Given the description of an element on the screen output the (x, y) to click on. 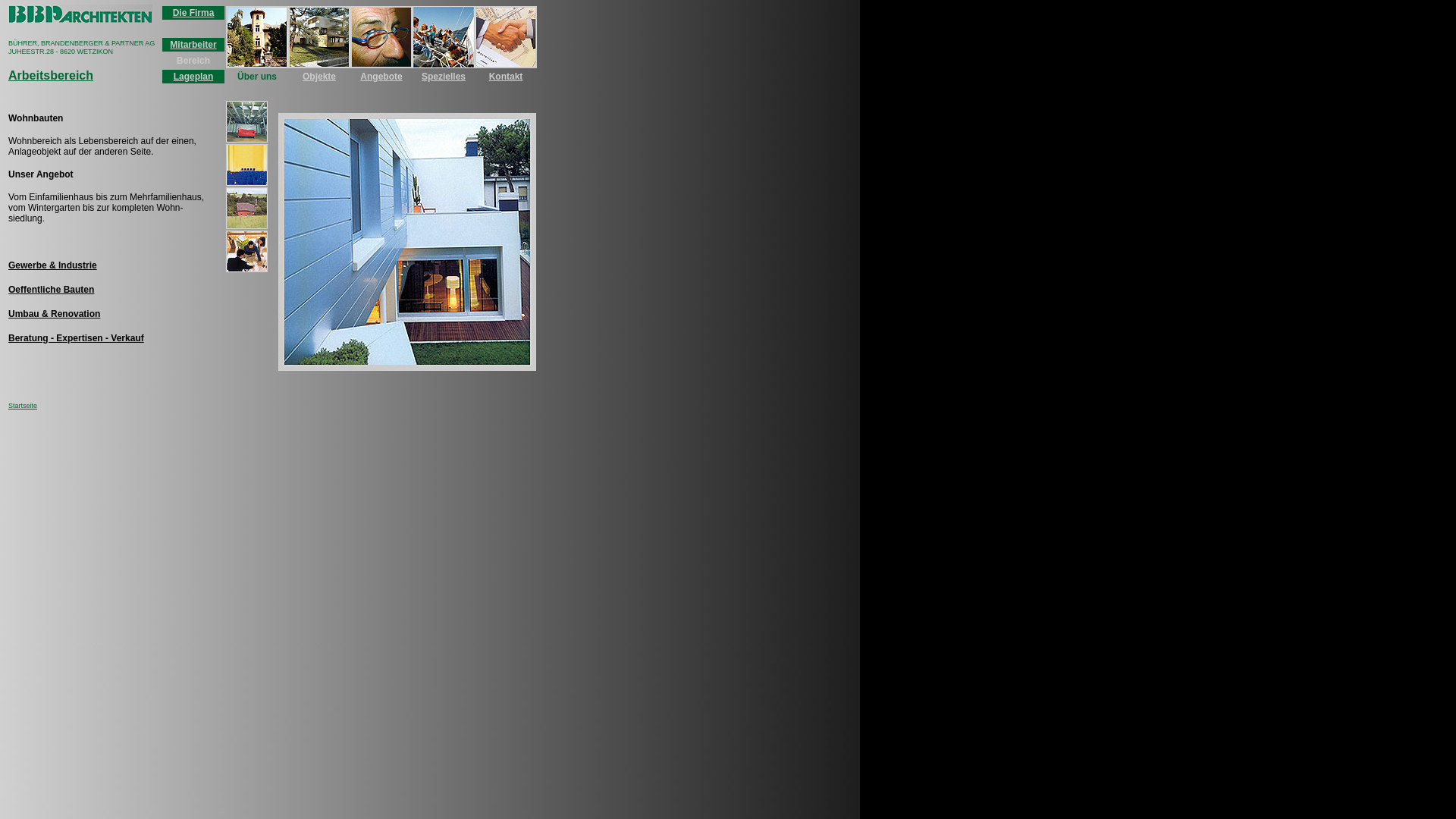
Beratung - Expertisen - Verkauf Element type: text (76, 337)
Startseite Element type: text (22, 405)
Mitarbeiter Element type: text (192, 44)
Umbau & Renovation Element type: text (54, 313)
Kontakt Element type: text (506, 75)
Objekte Element type: text (318, 75)
Gewerbe & Industrie Element type: text (52, 265)
Lageplan Element type: text (193, 75)
Die Firma Element type: text (193, 12)
Oeffentliche Bauten Element type: text (51, 289)
Spezielles Element type: text (443, 75)
Angebote Element type: text (380, 75)
